Given the description of an element on the screen output the (x, y) to click on. 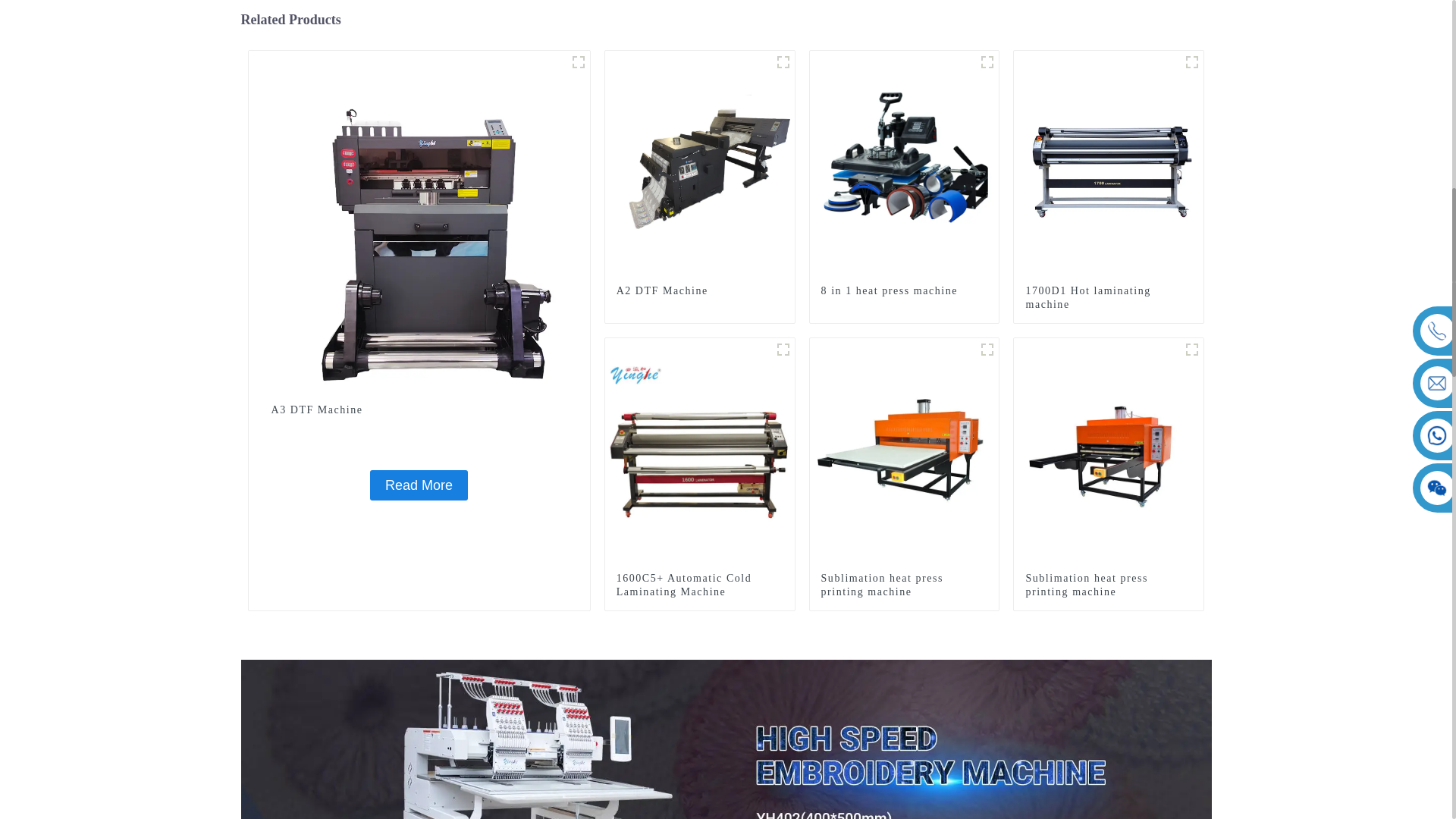
A3 DTF Machine (418, 220)
A2 DTF Machine1 (578, 61)
8-in-1-combo-heat-press (986, 61)
A2 DTF Machine (699, 291)
A2 DTF Machine1 (782, 61)
1700D1 Hot laminating machine (1108, 298)
A2 DTF Machine (699, 164)
A3 DTF Machine (418, 485)
1700D1 Hot laminating machine (1108, 164)
8 in 1 heat press machine (903, 164)
8 in 1 heat press machine (904, 291)
A3 DTF Machine (418, 409)
